Given the description of an element on the screen output the (x, y) to click on. 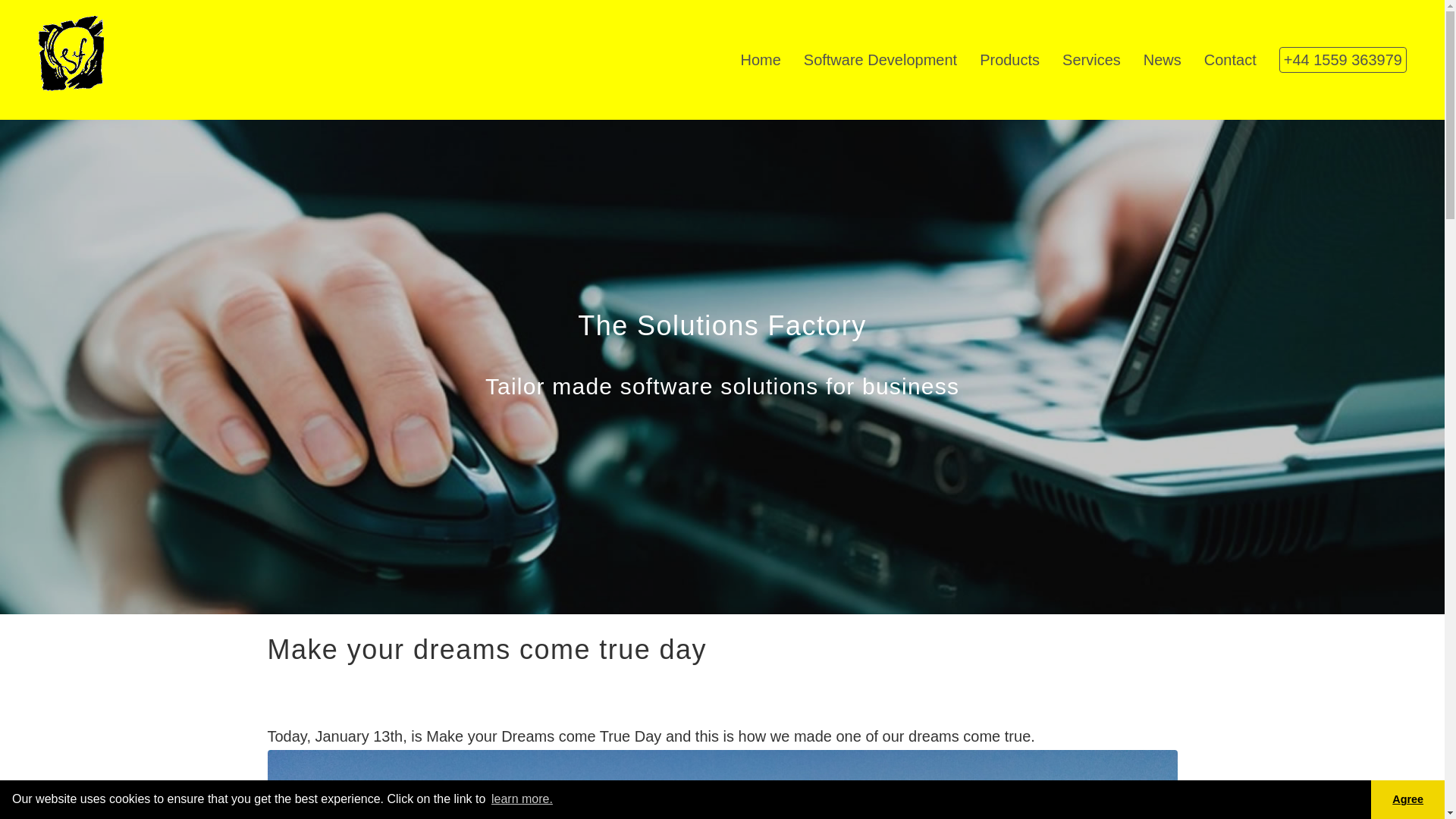
Products (1009, 59)
Services (1091, 59)
Home (759, 59)
Software Development (879, 59)
Contact (1230, 59)
learn more. (521, 798)
News (1161, 59)
